Given the description of an element on the screen output the (x, y) to click on. 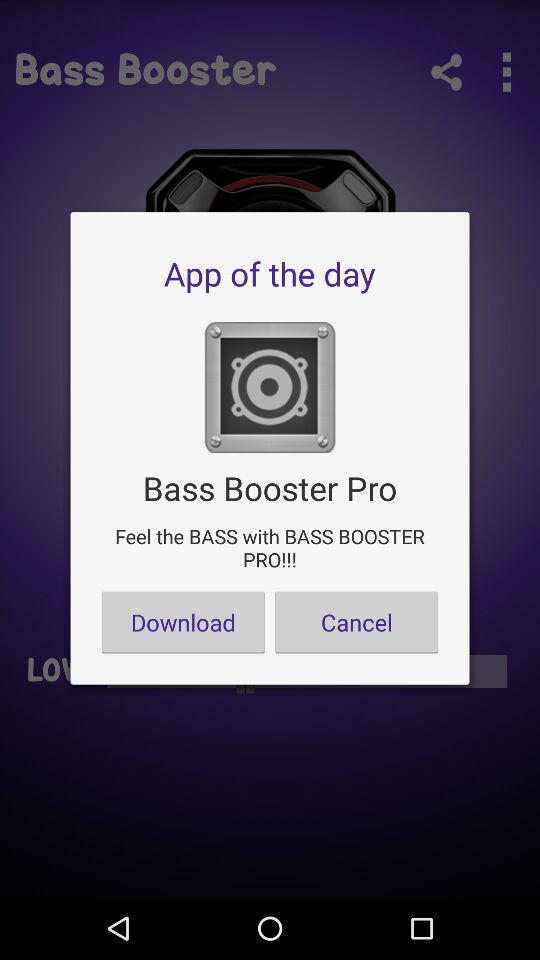
flip to the cancel (356, 622)
